Given the description of an element on the screen output the (x, y) to click on. 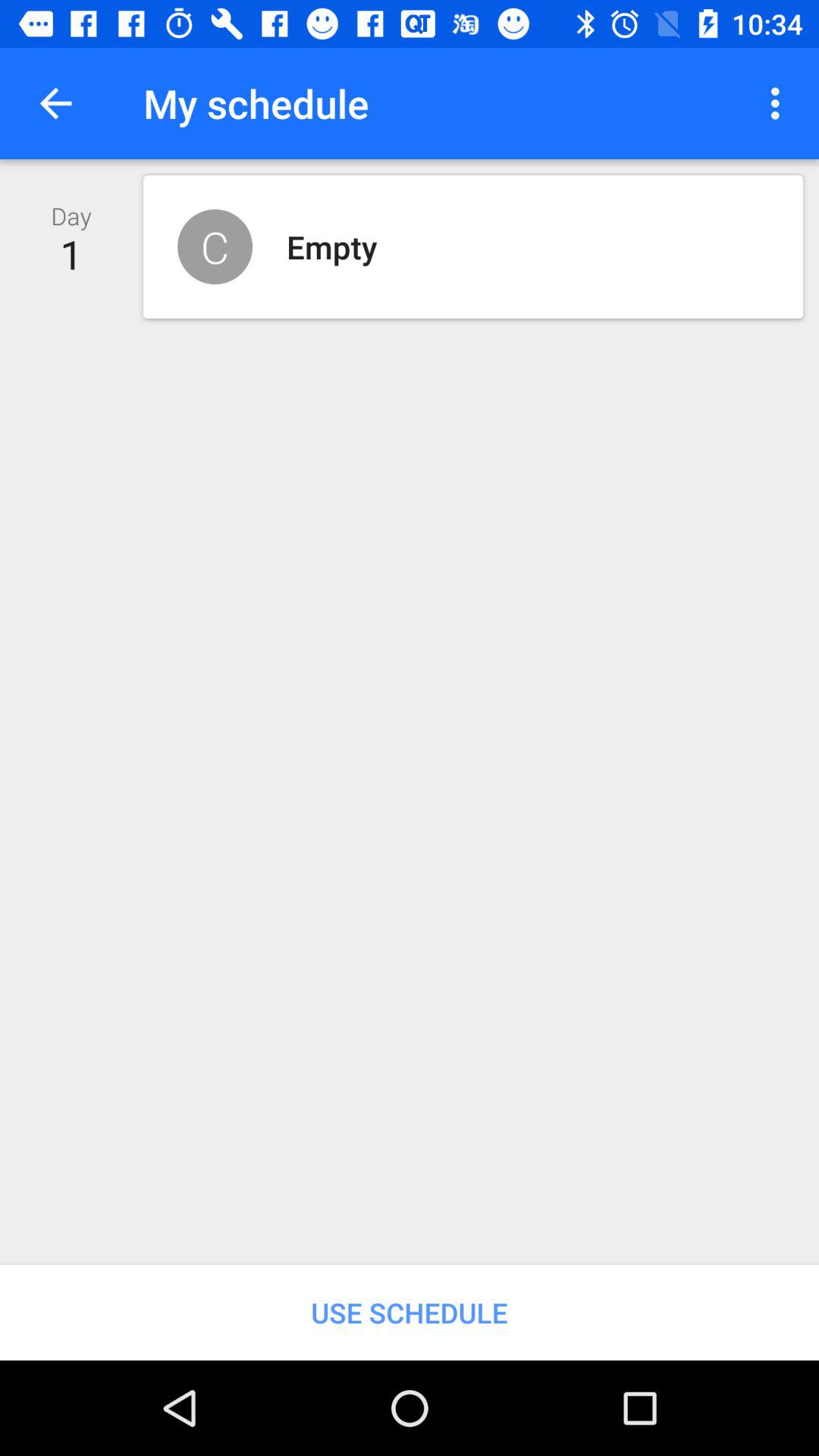
tap use schedule icon (409, 1312)
